Given the description of an element on the screen output the (x, y) to click on. 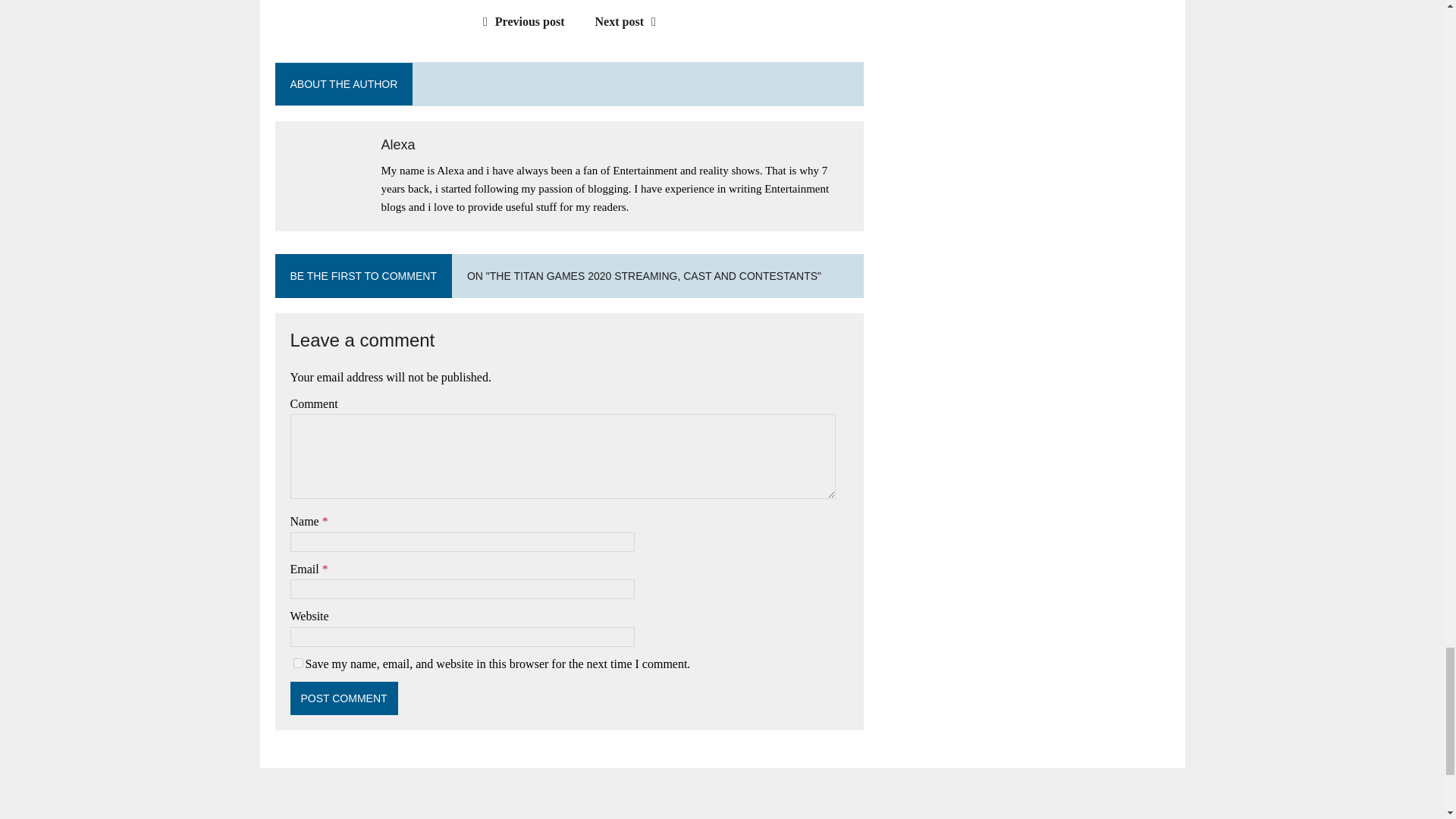
Alexa (397, 144)
Previous post (520, 21)
Post Comment (343, 697)
yes (297, 663)
Next post (629, 21)
